Given the description of an element on the screen output the (x, y) to click on. 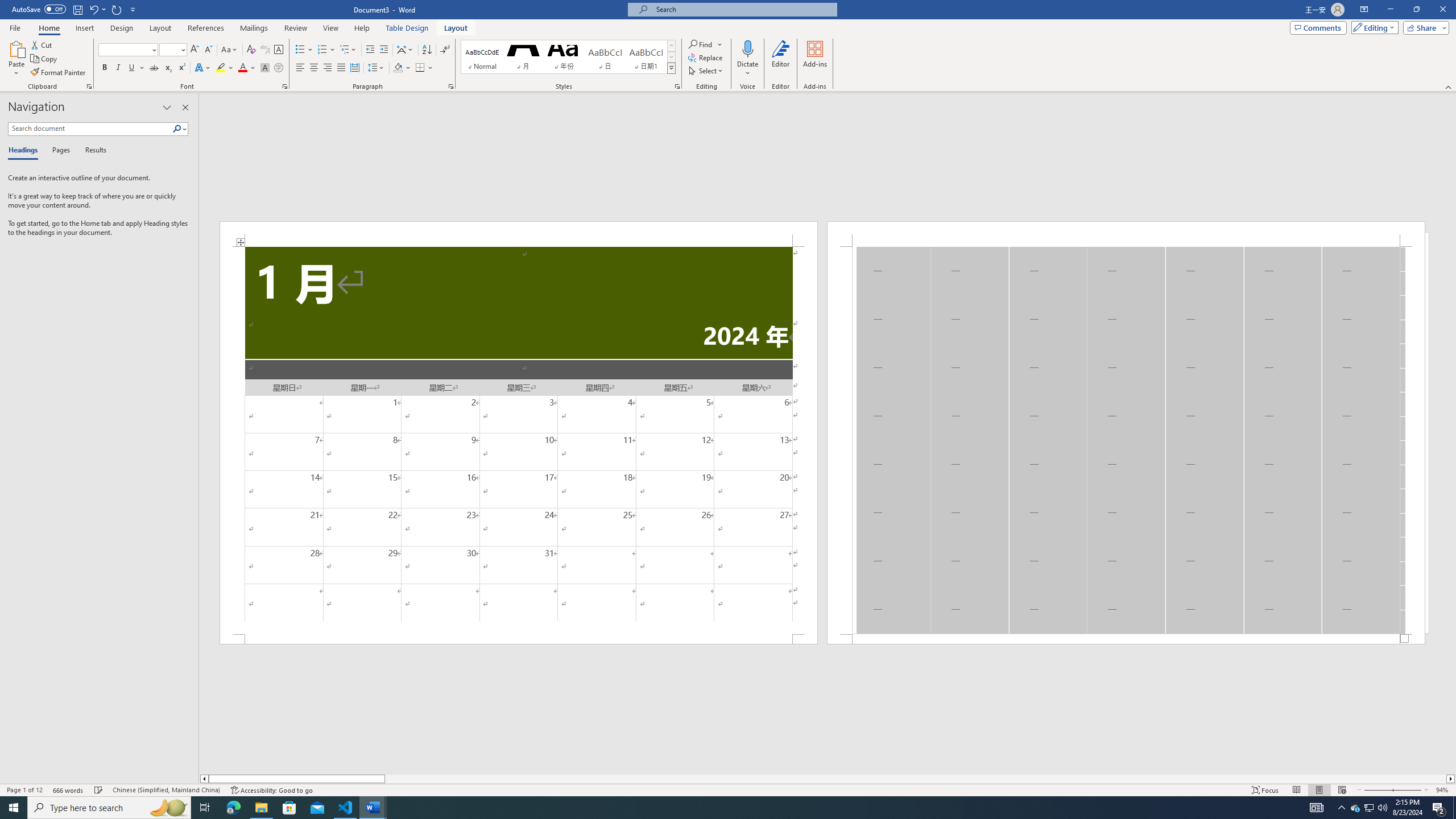
Page Number Page 1 of 12 (24, 790)
Undo Apply Quick Style (96, 9)
Font Color RGB(255, 0, 0) (241, 67)
